Given the description of an element on the screen output the (x, y) to click on. 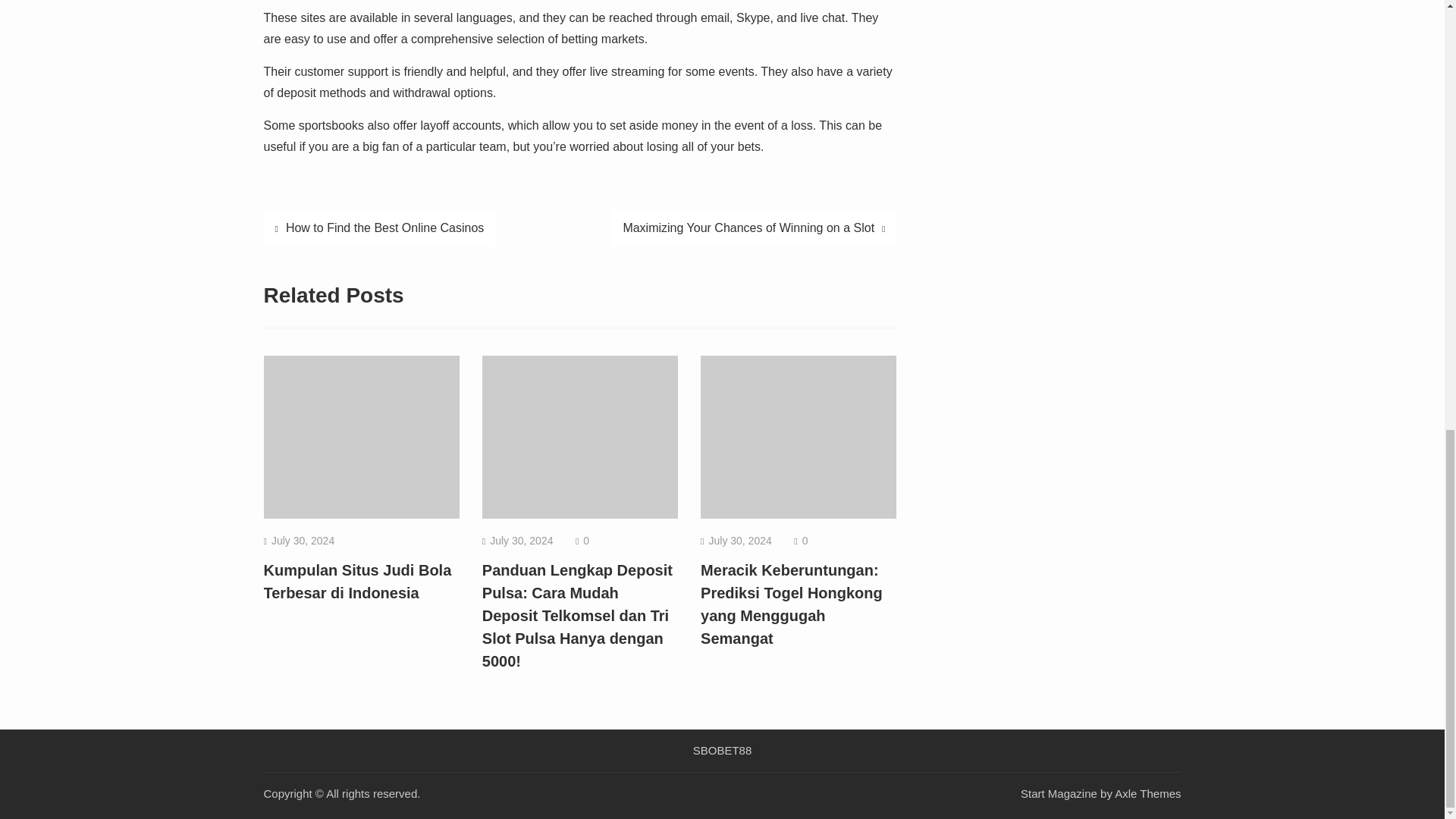
Axle Themes (1147, 793)
SBOBET88 (722, 750)
Maximizing Your Chances of Winning on a Slot (753, 227)
How to Find the Best Online Casinos (379, 227)
Kumpulan Situs Judi Bola Terbesar di Indonesia (357, 581)
